Given the description of an element on the screen output the (x, y) to click on. 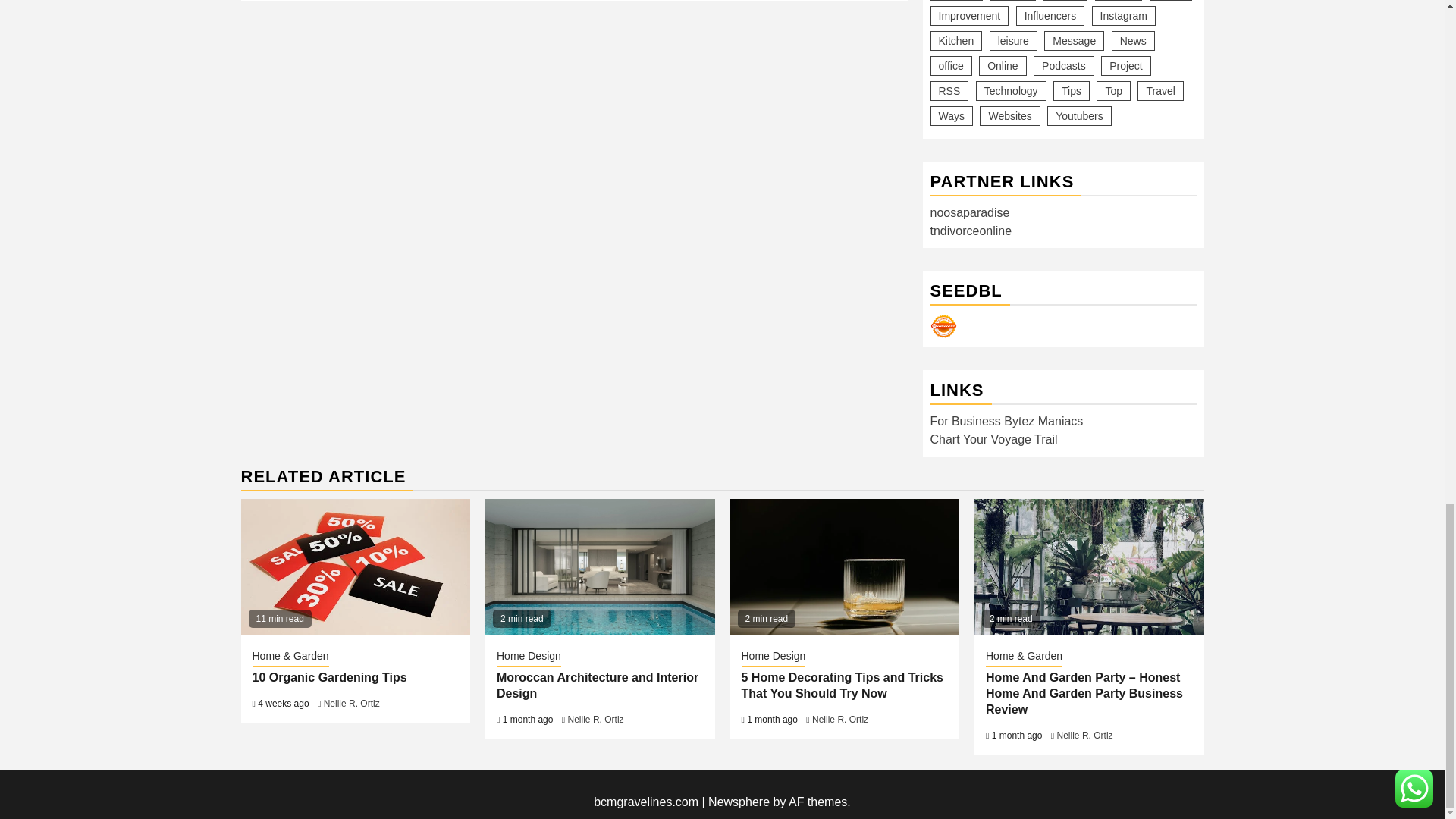
10 Organic Gardening Tips (355, 566)
Moroccan Architecture and Interior Design (599, 566)
Seedbacklink (943, 325)
